Given the description of an element on the screen output the (x, y) to click on. 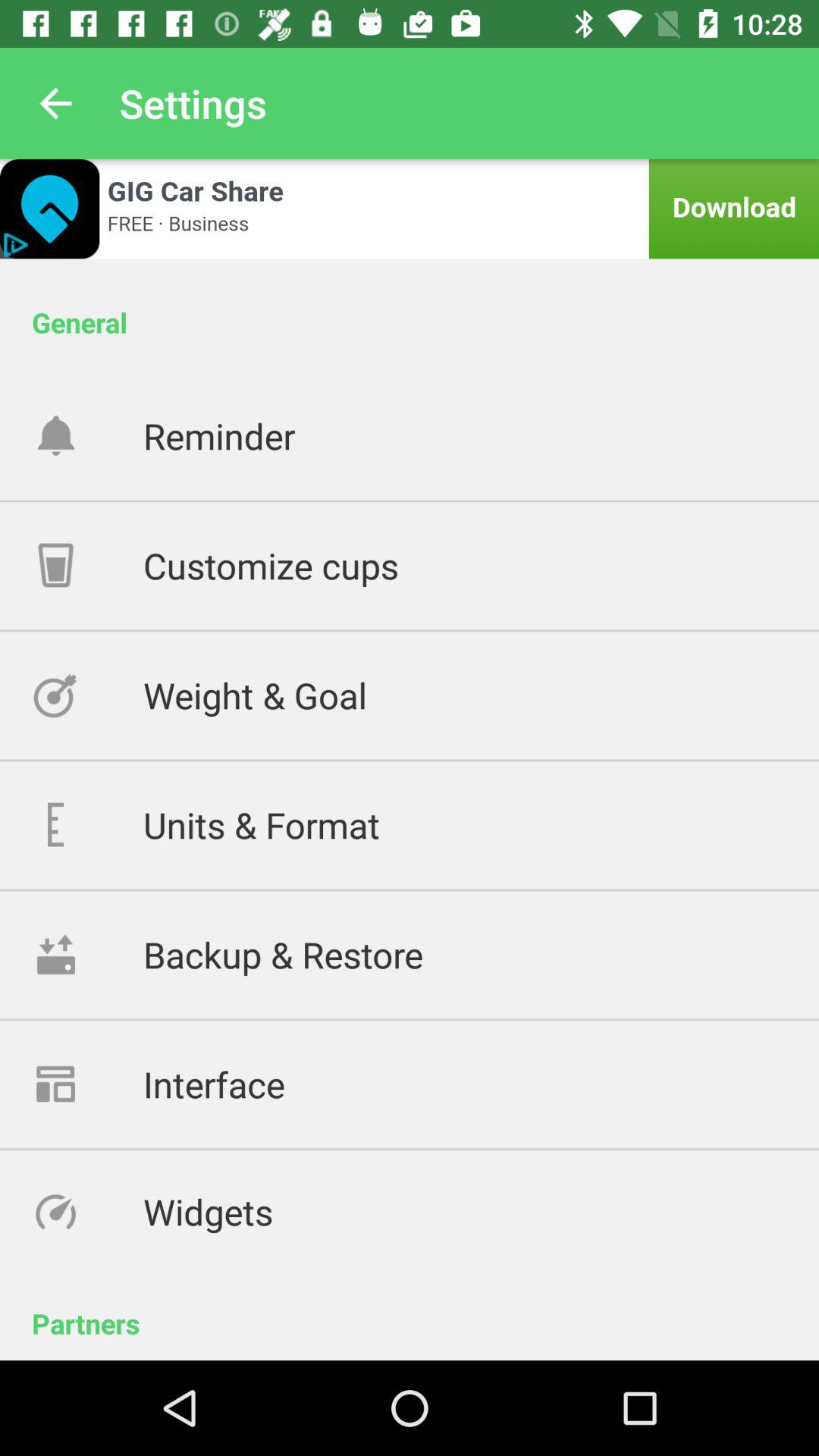
go to advertisement (409, 208)
